Given the description of an element on the screen output the (x, y) to click on. 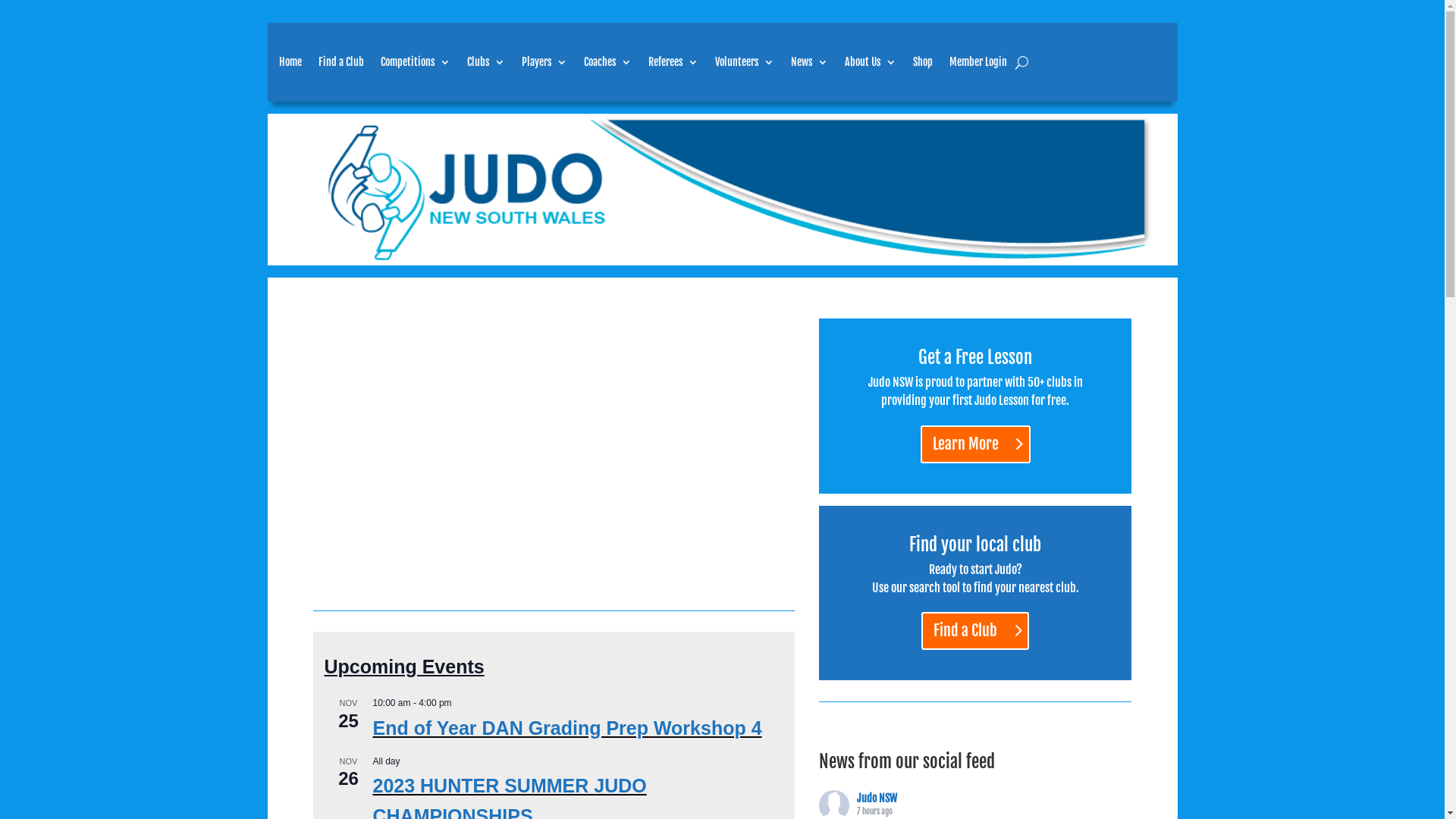
End of Year DAN Grading Prep Workshop 4 Element type: text (567, 728)
Coaches Element type: text (607, 62)
Judo NSW - The Kids Stories Element type: hover (552, 453)
Member Login Element type: text (978, 62)
News Element type: text (808, 62)
Players Element type: text (544, 62)
Competitions Element type: text (415, 62)
Shop Element type: text (922, 62)
Learn More Element type: text (975, 444)
Clubs Element type: text (486, 62)
Find a Club Element type: text (975, 630)
Referees Element type: text (672, 62)
Home Element type: text (290, 62)
Judo NSW Element type: text (876, 797)
Find a Club Element type: text (341, 62)
About Us Element type: text (870, 62)
judo-nsw-wide Element type: hover (722, 189)
Volunteers Element type: text (743, 62)
